Given the description of an element on the screen output the (x, y) to click on. 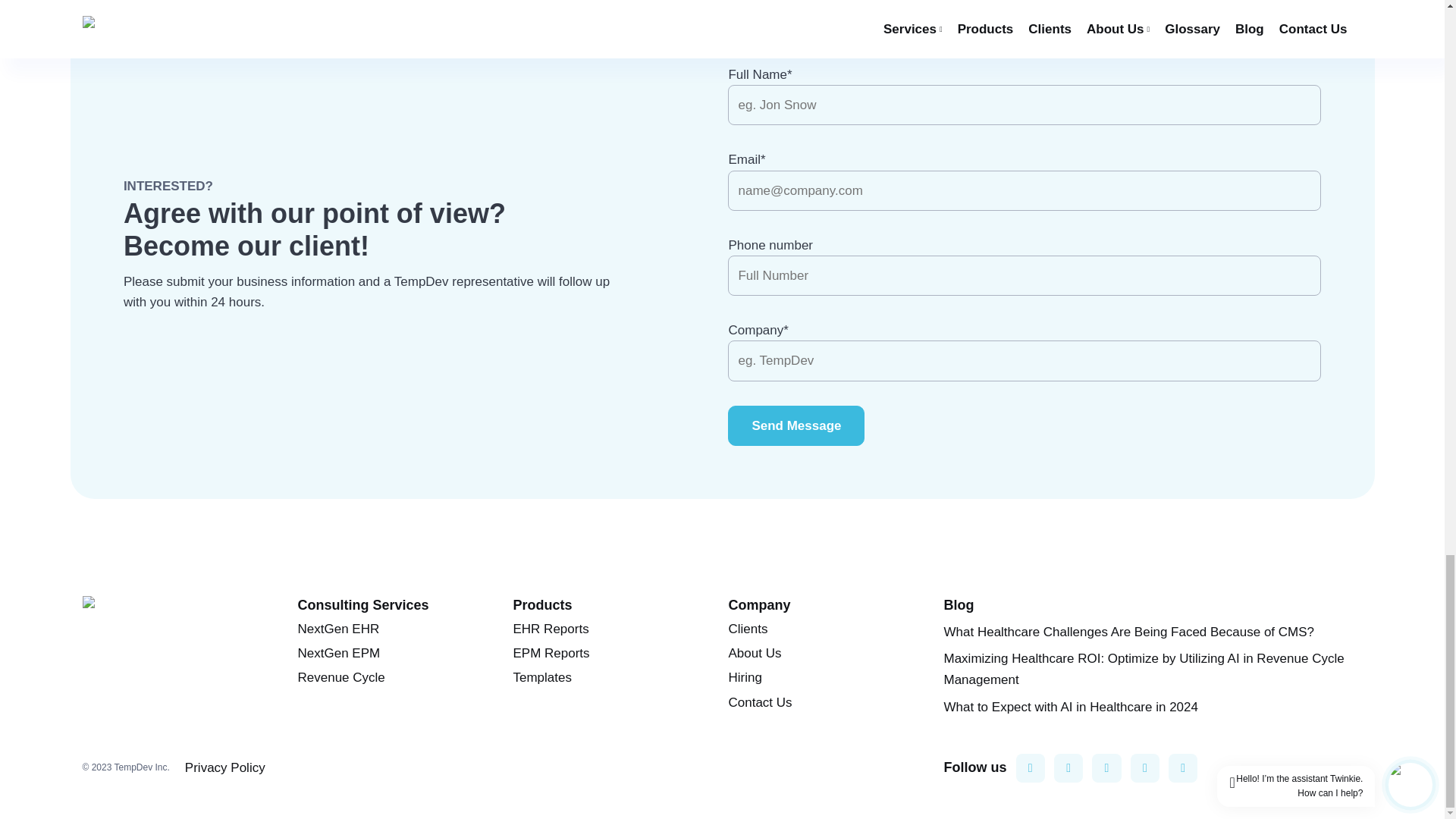
Send Message (796, 425)
NextGen EHR (337, 628)
